Given the description of an element on the screen output the (x, y) to click on. 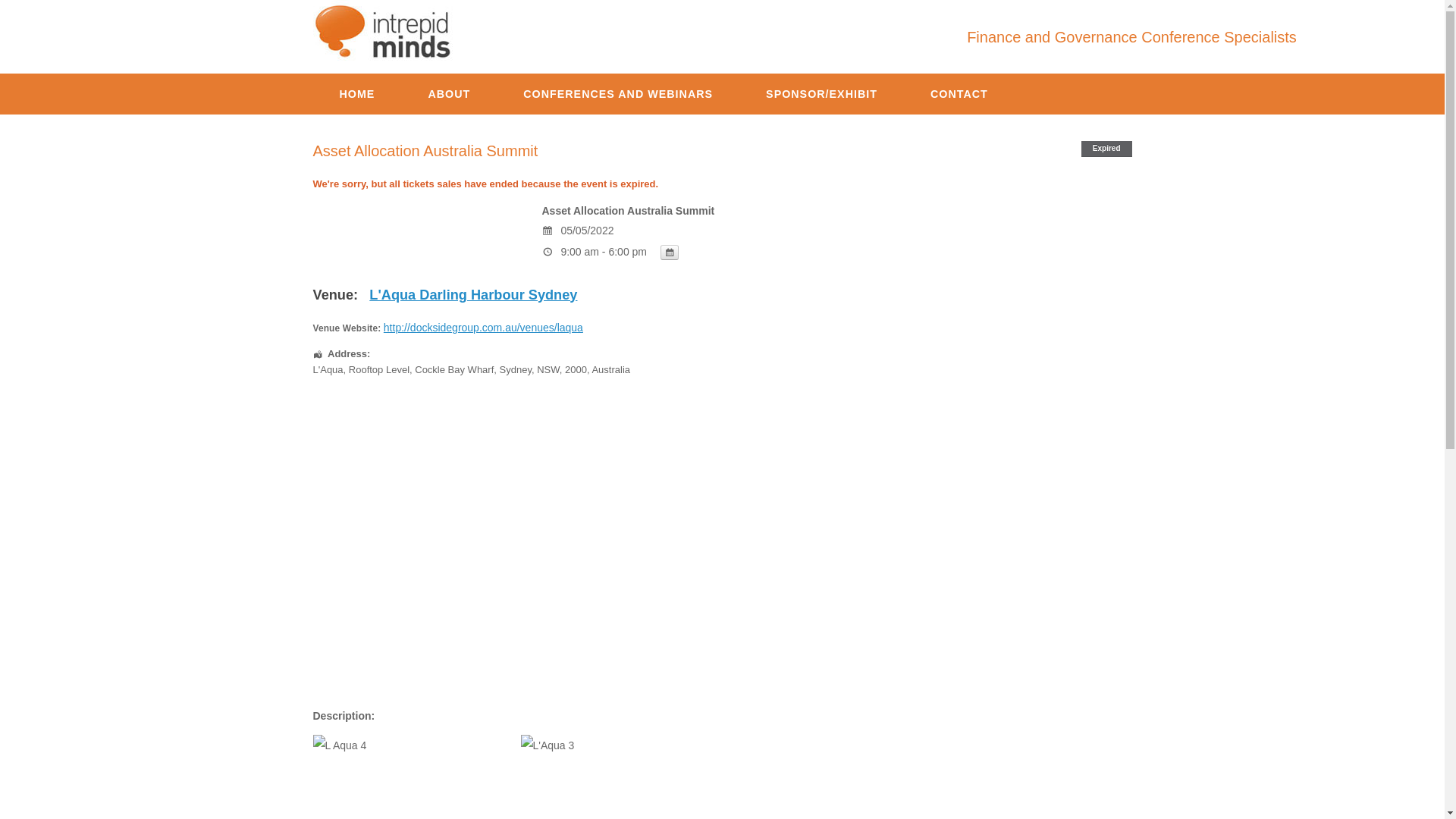
ABOUT Element type: text (448, 93)
HOME Element type: text (356, 93)
CONTACT Element type: text (958, 93)
Intrepid Minds Element type: hover (383, 31)
SPONSOR/EXHIBIT Element type: text (821, 93)
L'Aqua Darling Harbour Sydney Element type: text (473, 294)
CONFERENCES AND WEBINARS Element type: text (617, 93)
Add to iCal Calendar Element type: hover (669, 252)
http://docksidegroup.com.au/venues/laqua Element type: text (483, 327)
